Given the description of an element on the screen output the (x, y) to click on. 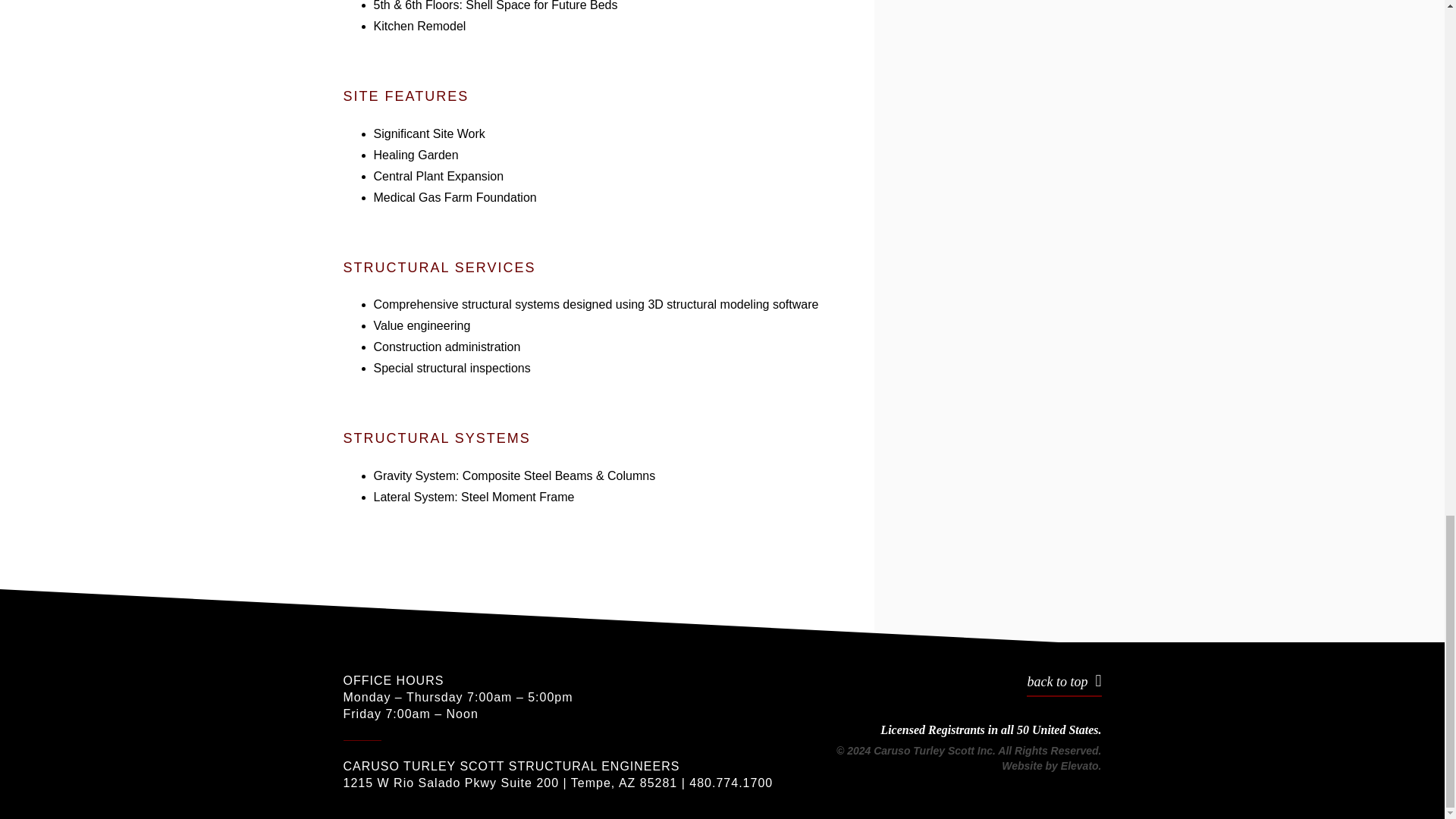
back to top (1063, 684)
Elevato (1080, 766)
480.774.1700 (730, 782)
